Given the description of an element on the screen output the (x, y) to click on. 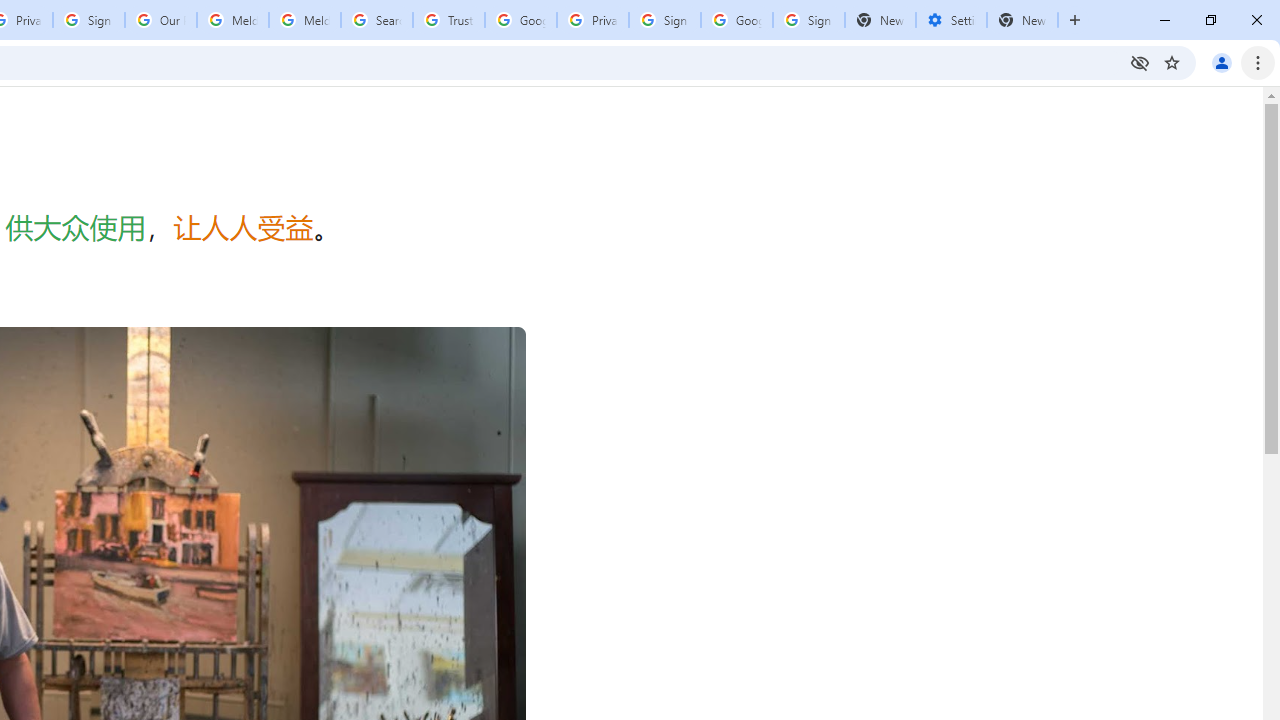
Sign in - Google Accounts (664, 20)
Search our Doodle Library Collection - Google Doodles (376, 20)
Google Cybersecurity Innovations - Google Safety Center (737, 20)
New Tab (1075, 20)
Third-party cookies blocked (1139, 62)
Google Ads - Sign in (520, 20)
Sign in - Google Accounts (88, 20)
Trusted Information and Content - Google Safety Center (449, 20)
Close (1256, 20)
Chrome (1260, 62)
Minimize (1165, 20)
Bookmark this tab (1171, 62)
